Given the description of an element on the screen output the (x, y) to click on. 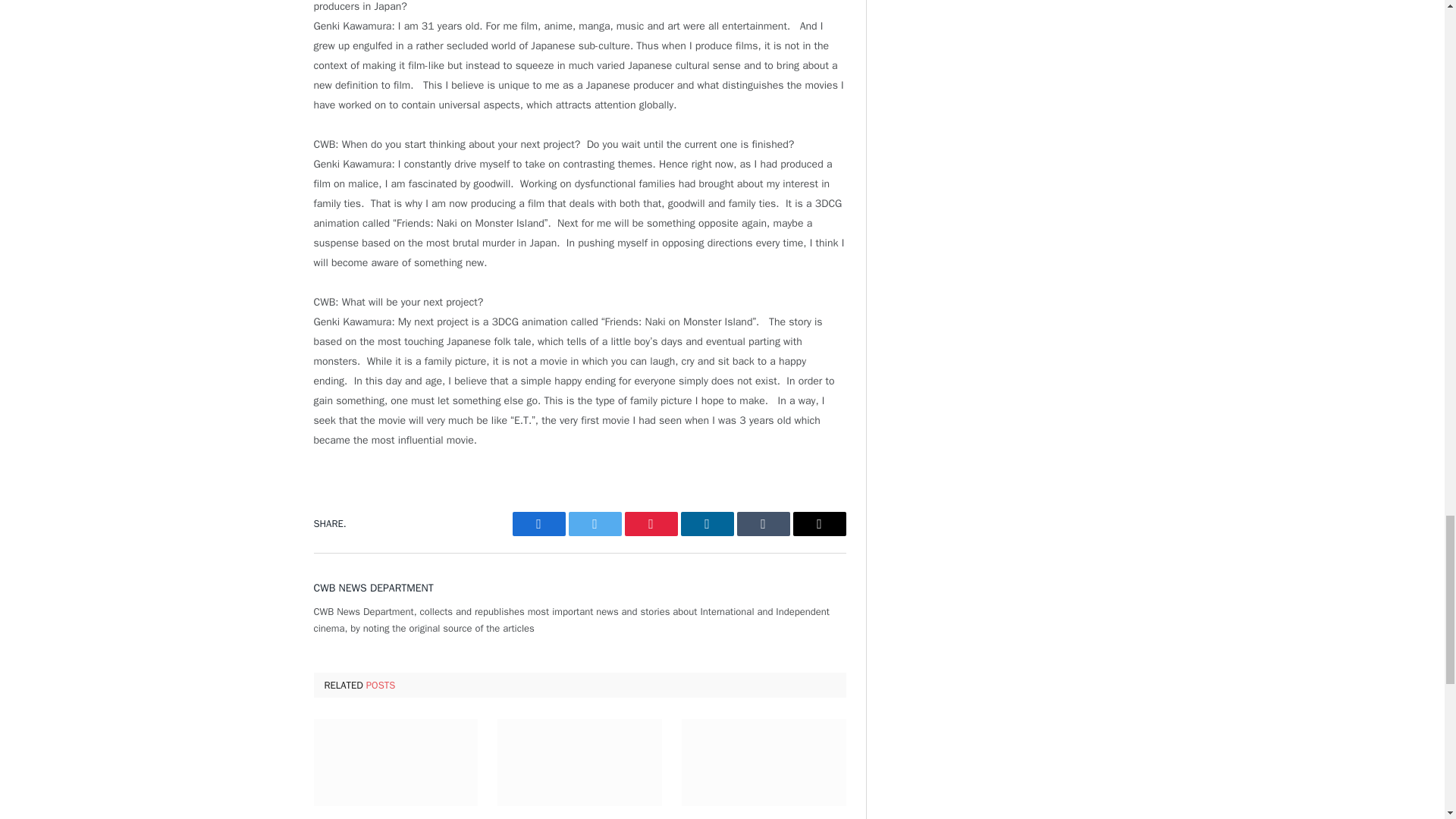
Share via Email (819, 523)
Share on Pinterest (651, 523)
Share on Tumblr (763, 523)
Twitter (595, 523)
Posts by CWB News Department (373, 587)
Share on Facebook (539, 523)
Facebook (539, 523)
Share on LinkedIn (707, 523)
